Given the description of an element on the screen output the (x, y) to click on. 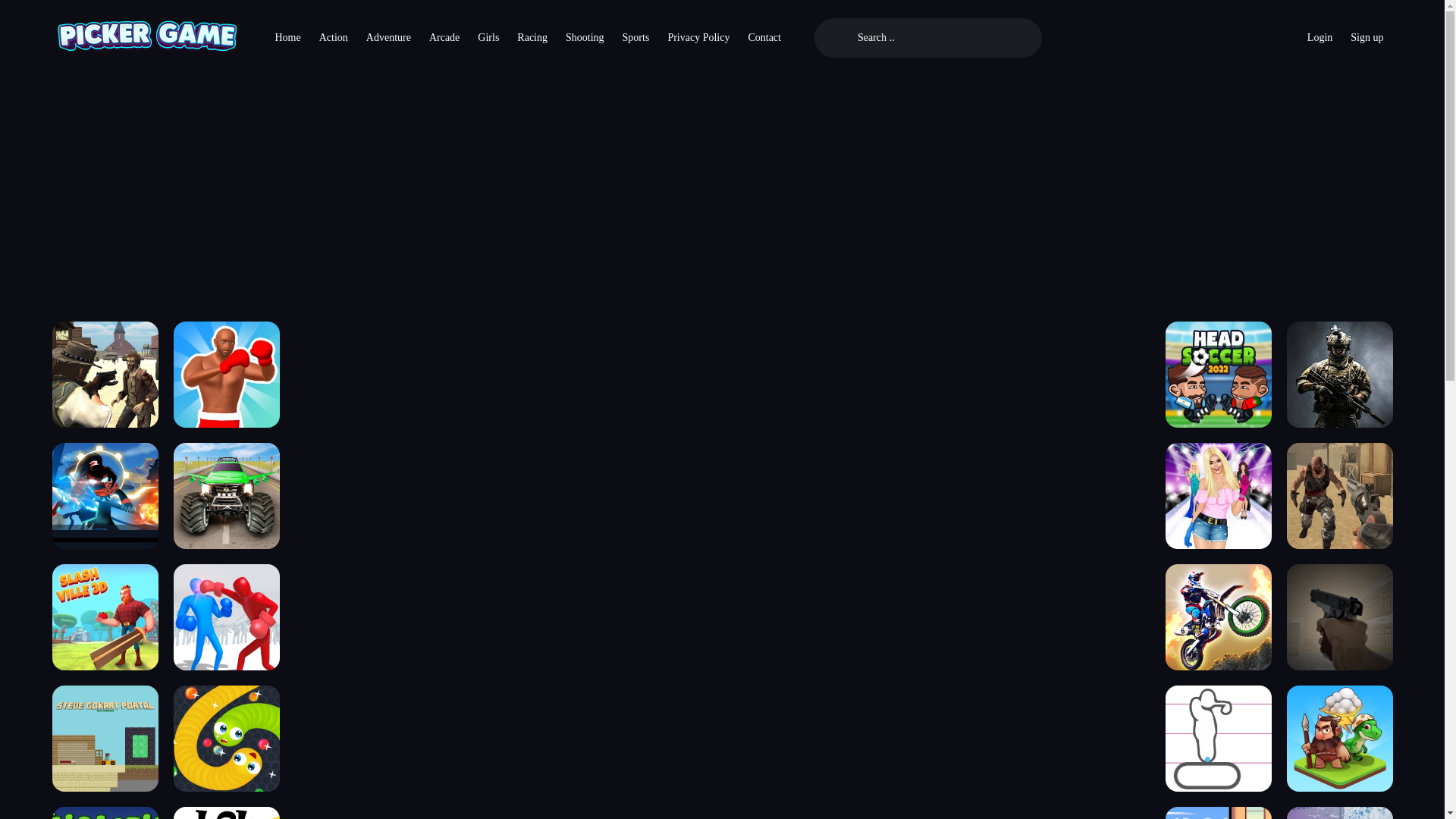
Shooting (584, 37)
Girls (488, 37)
Home (286, 37)
Racing (532, 37)
Sign up (1365, 37)
Adventure (388, 37)
Arcade (444, 37)
Privacy Policy (698, 37)
Contact (764, 37)
Sports (635, 37)
